Given the description of an element on the screen output the (x, y) to click on. 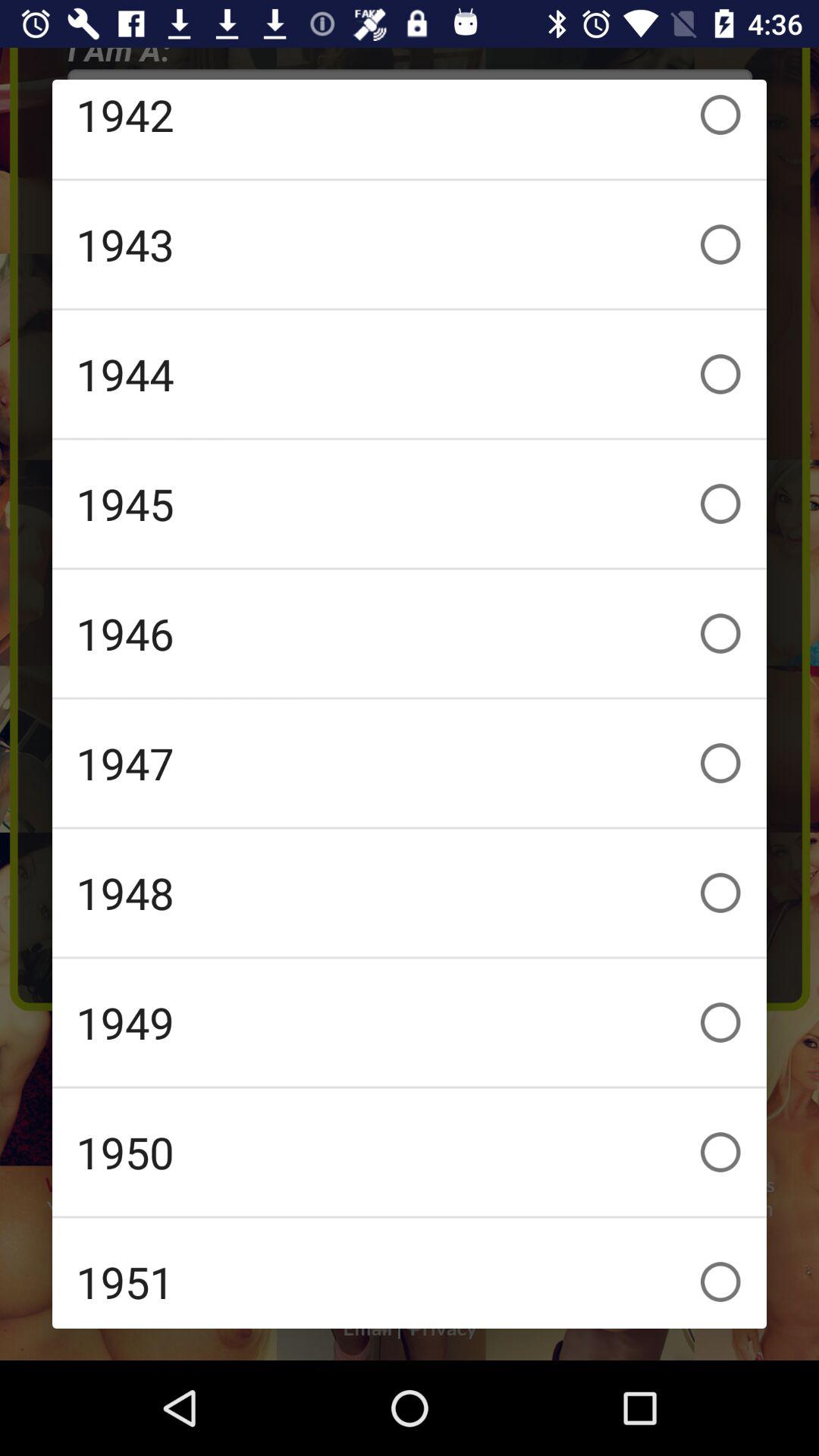
scroll to the 1949 checkbox (409, 1022)
